Given the description of an element on the screen output the (x, y) to click on. 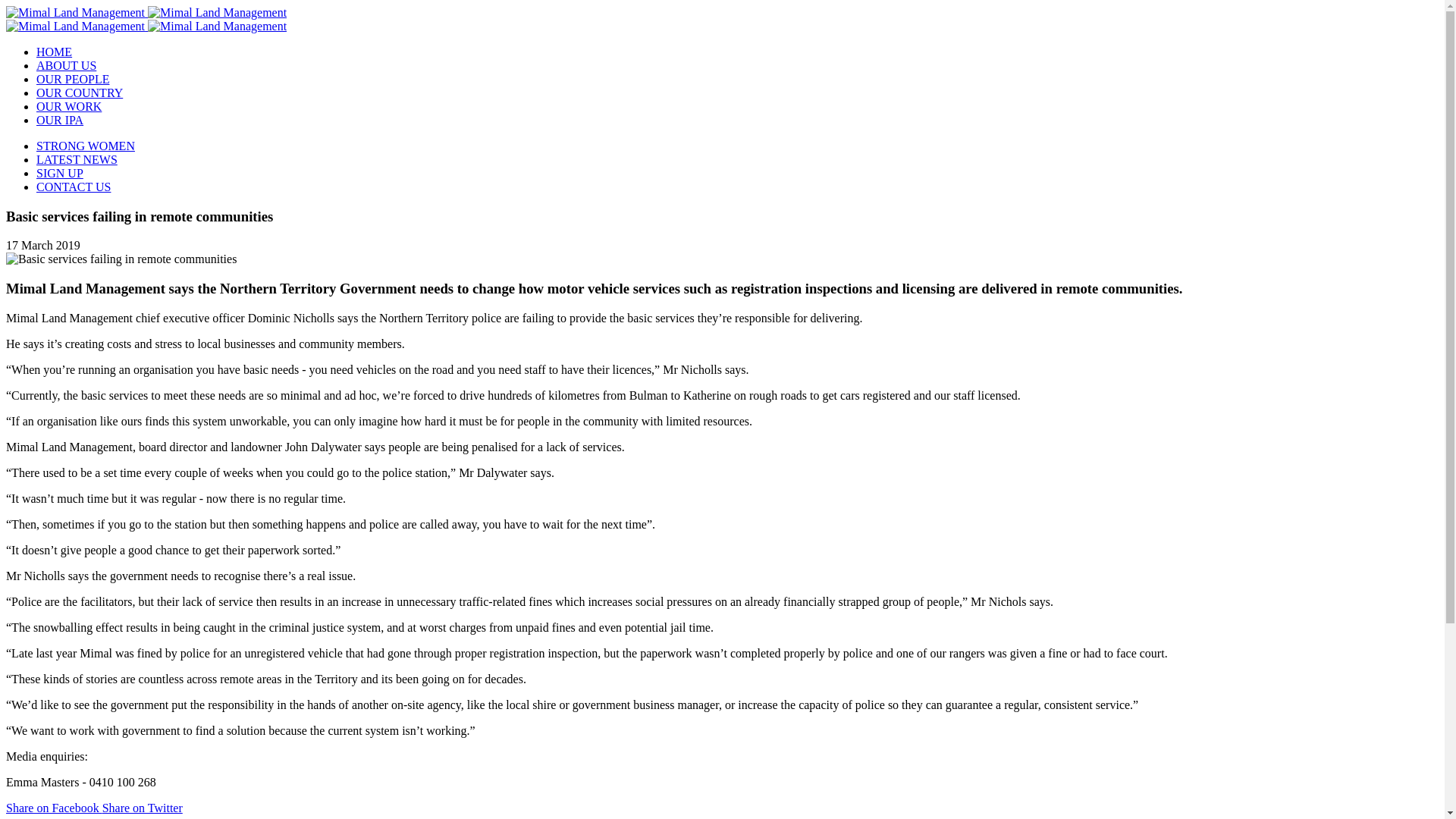
Share on Twitter (142, 807)
OUR PEOPLE (72, 78)
STRONG WOMEN (85, 145)
OUR IPA (59, 119)
OUR WORK (68, 106)
ABOUT US (66, 65)
HOME (53, 51)
CONTACT US (73, 186)
OUR COUNTRY (79, 92)
Share on Facebook (53, 807)
LATEST NEWS (76, 159)
SIGN UP (59, 173)
